Given the description of an element on the screen output the (x, y) to click on. 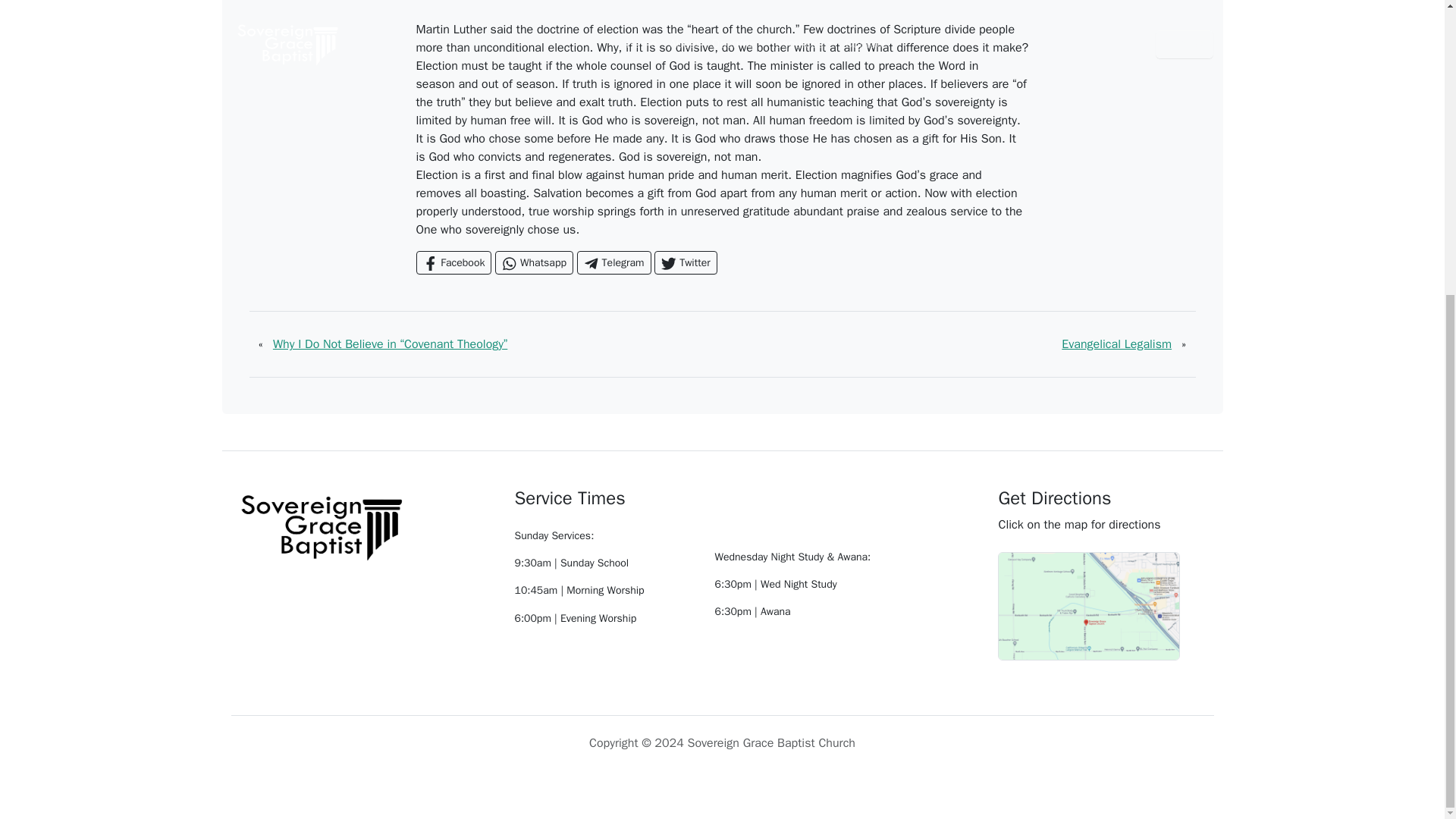
Twitter (684, 262)
Telegram (613, 262)
Share on Facebook (453, 262)
Share on Whatsapp (534, 262)
Share on Twitter (684, 262)
Facebook (453, 262)
Whatsapp (534, 262)
Share on Telegram (613, 262)
Evangelical Legalism (1115, 344)
